Given the description of an element on the screen output the (x, y) to click on. 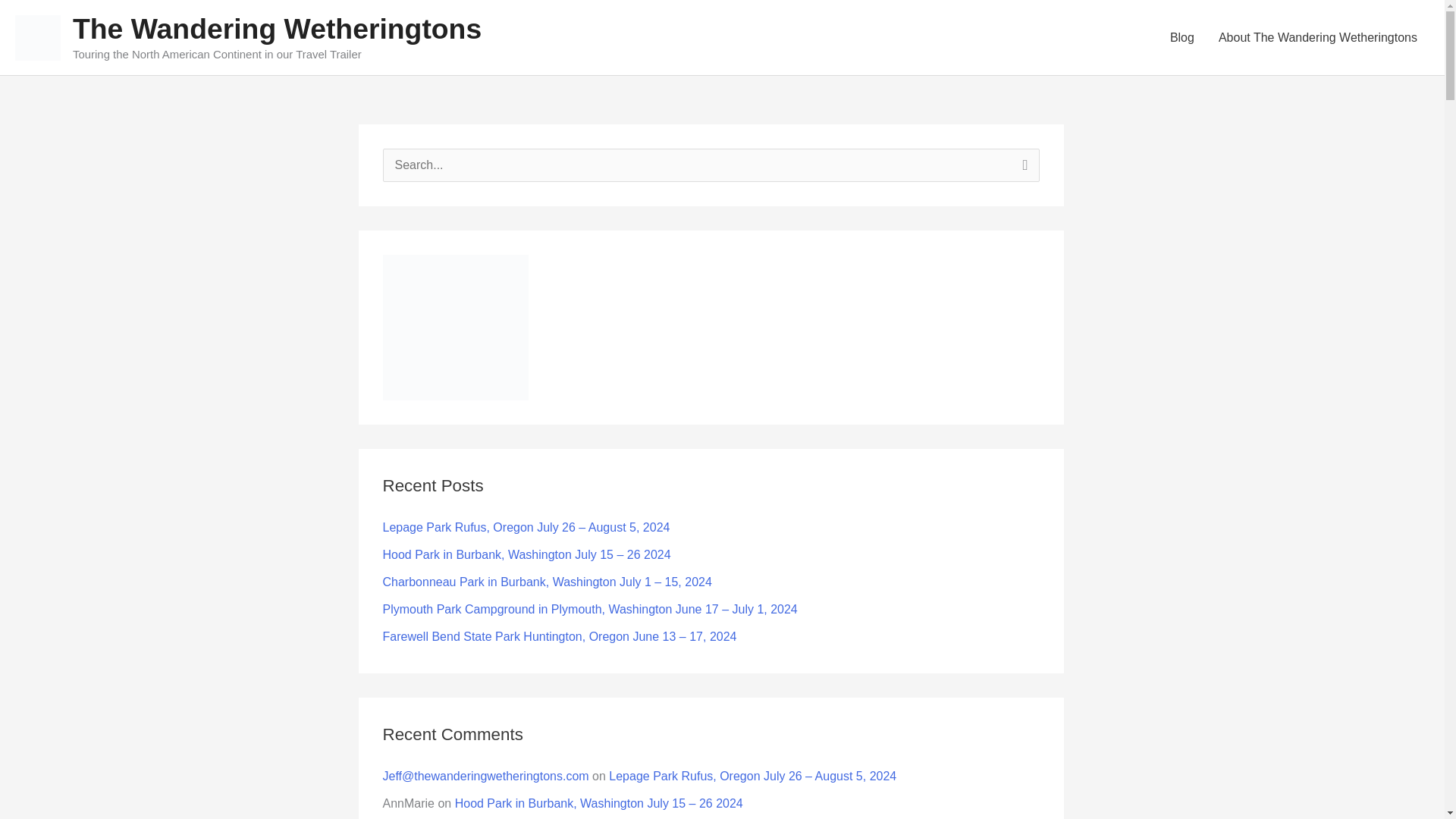
The Wandering Wetheringtons (276, 29)
About The Wandering Wetheringtons (1318, 37)
Blog (1182, 37)
